Given the description of an element on the screen output the (x, y) to click on. 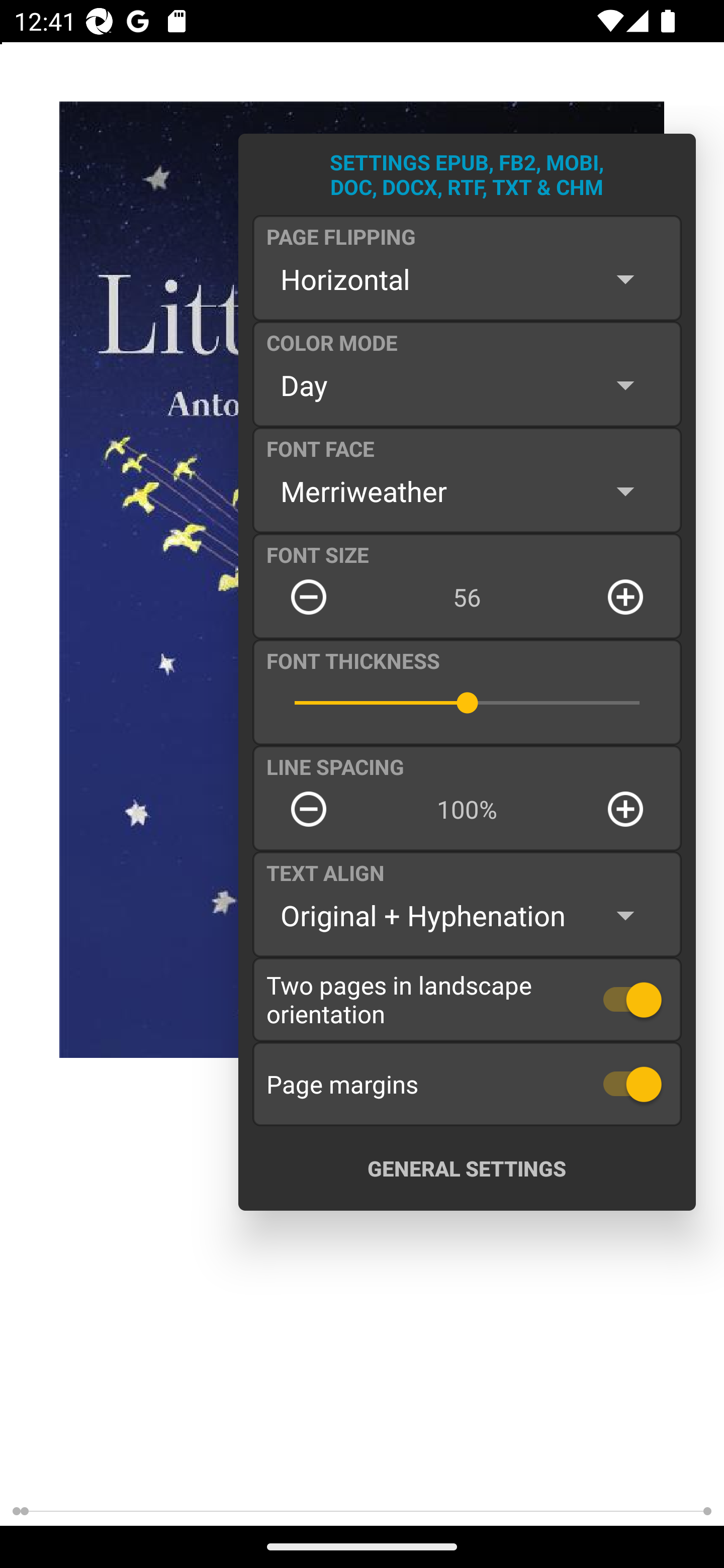
Horizontal (466, 278)
Day (466, 384)
Merriweather (466, 490)
Original + Hyphenation (466, 915)
Two pages in landscape orientation (467, 999)
Page margins (467, 1083)
GENERAL SETTINGS (466, 1167)
